Given the description of an element on the screen output the (x, y) to click on. 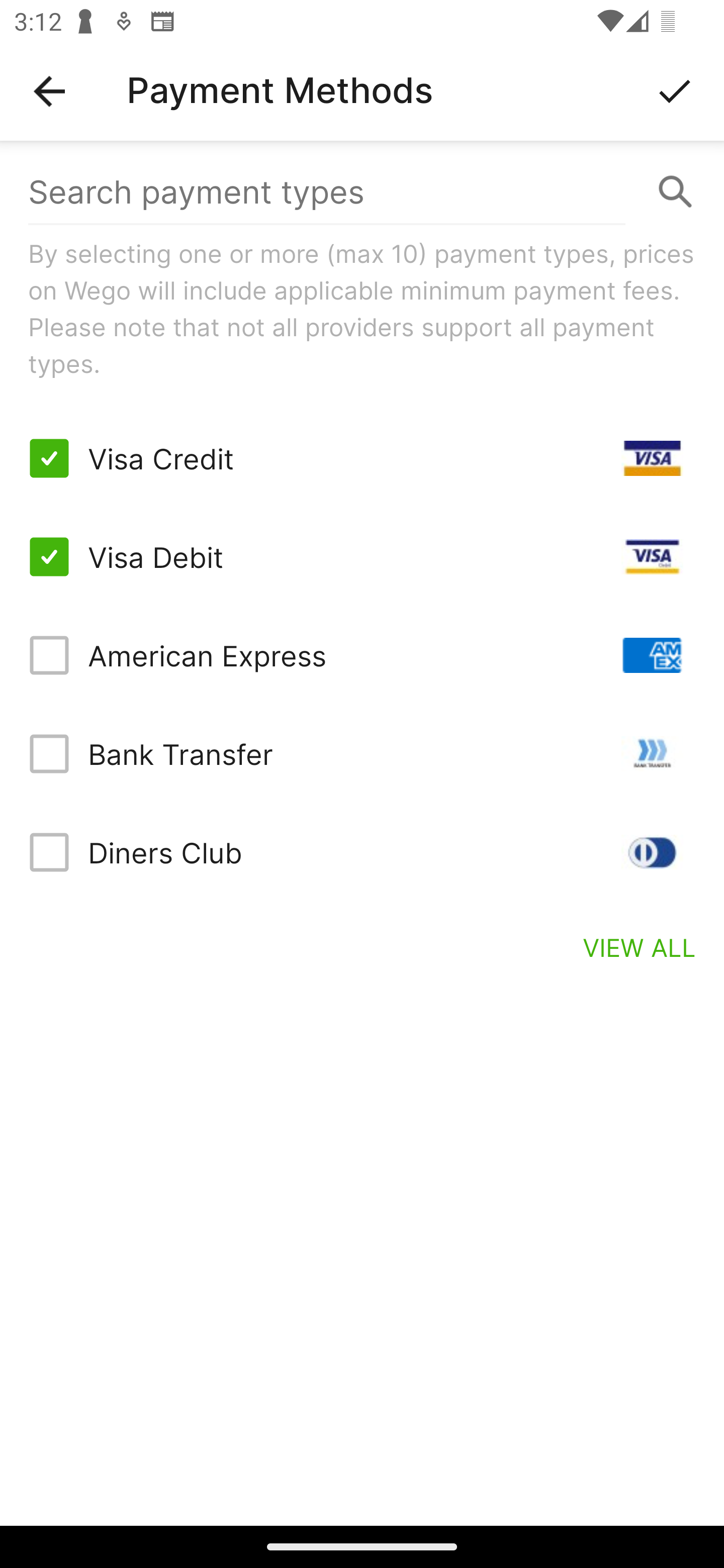
Search payment types  (361, 191)
Visa Credit (362, 458)
Visa Debit (362, 557)
American Express (362, 655)
Bank Transfer (362, 753)
Diners Club (362, 851)
VIEW ALL (639, 946)
